Given the description of an element on the screen output the (x, y) to click on. 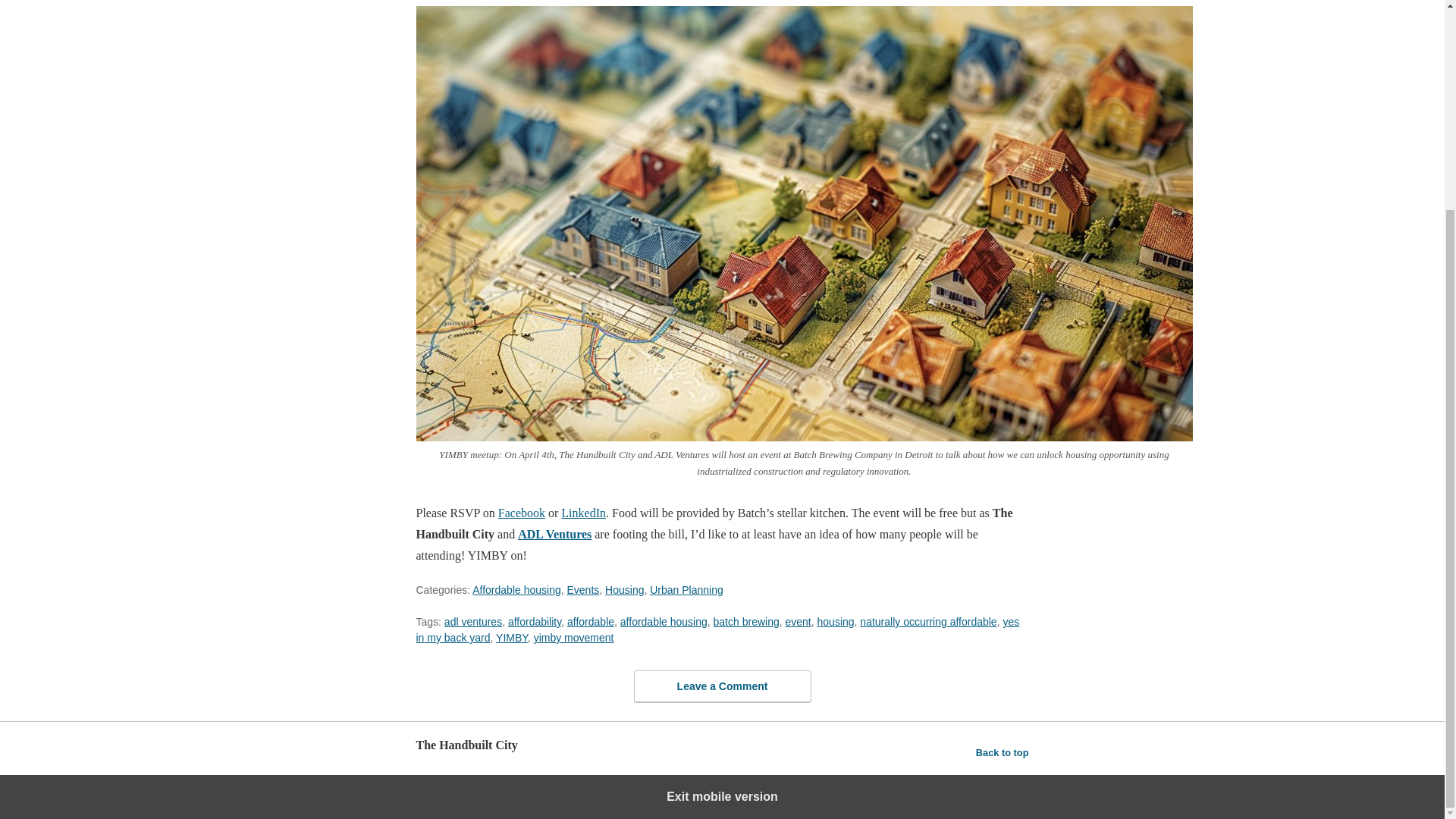
Urban Planning (686, 589)
batch brewing (745, 621)
Events (583, 589)
affordable (590, 621)
Affordable housing (515, 589)
LinkedIn (582, 512)
YIMBY (511, 637)
adl ventures (473, 621)
Leave a Comment (721, 686)
event (798, 621)
